Given the description of an element on the screen output the (x, y) to click on. 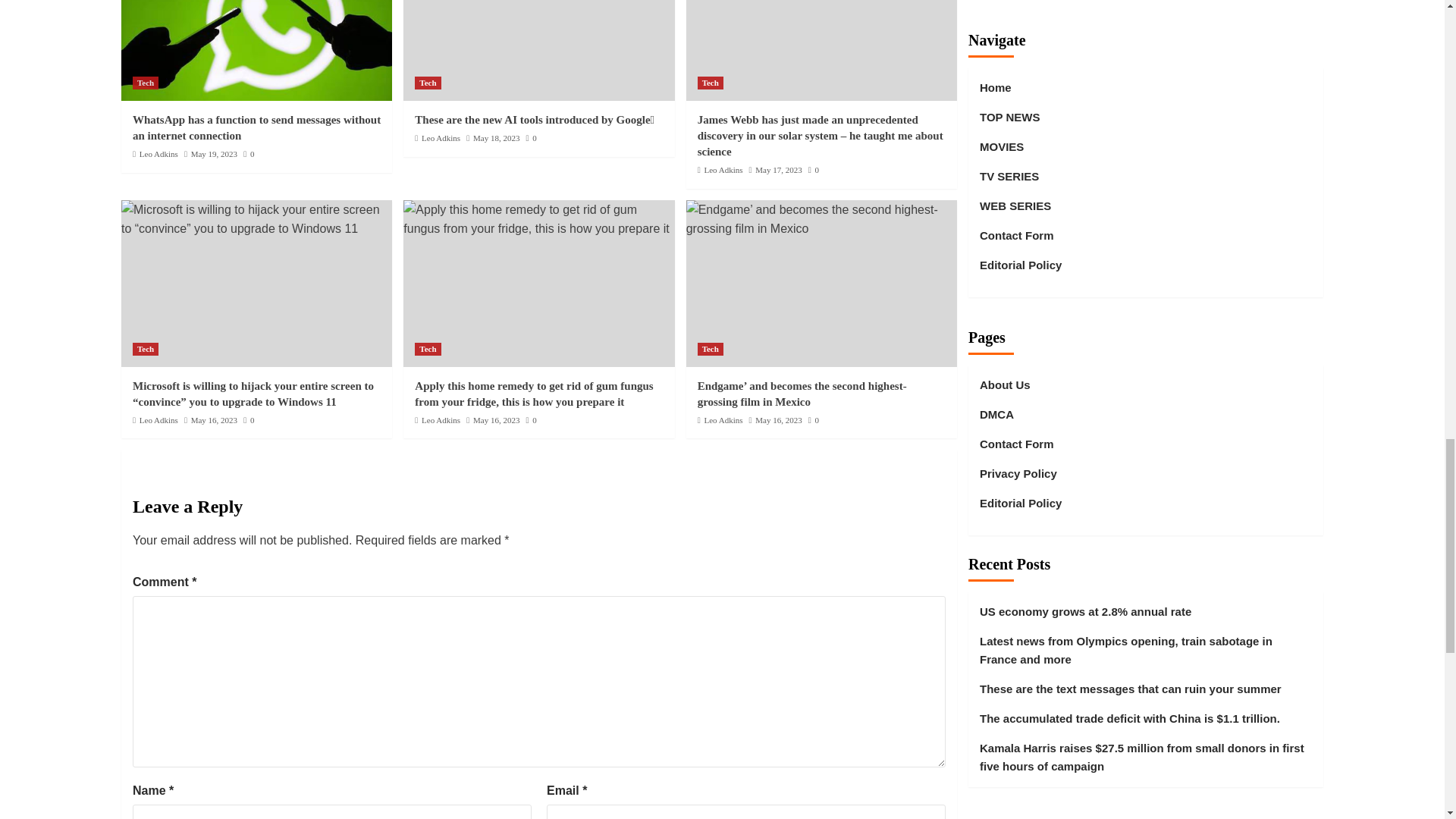
Leo Adkins (158, 153)
Tech (427, 82)
Tech (145, 82)
May 19, 2023 (213, 153)
0 (248, 153)
